Given the description of an element on the screen output the (x, y) to click on. 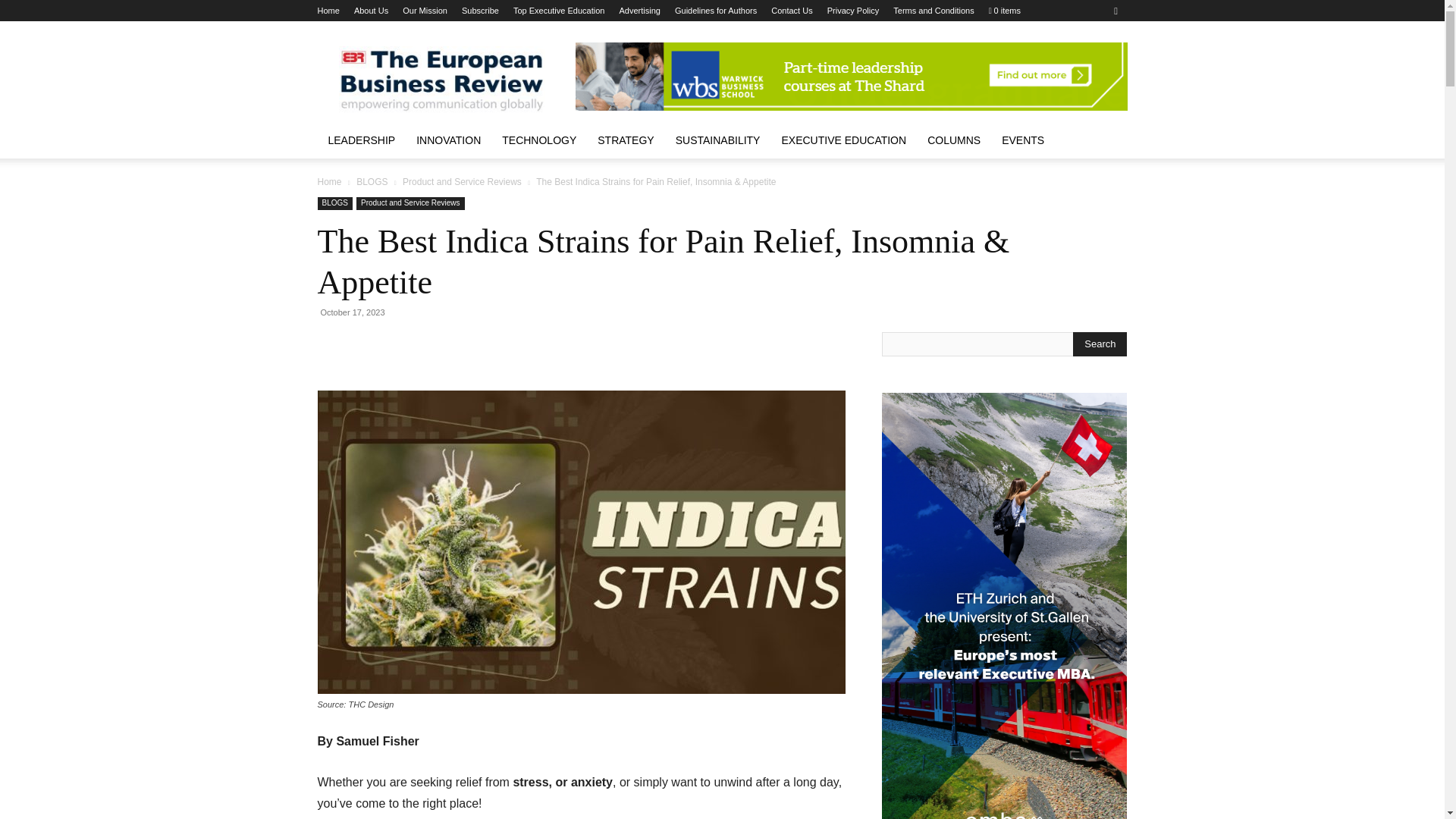
advertisement (850, 76)
Search (1099, 344)
Innovation (449, 140)
View all posts in BLOGS (371, 181)
View all posts in Product and Service Reviews (462, 181)
Start shopping (1004, 10)
